Given the description of an element on the screen output the (x, y) to click on. 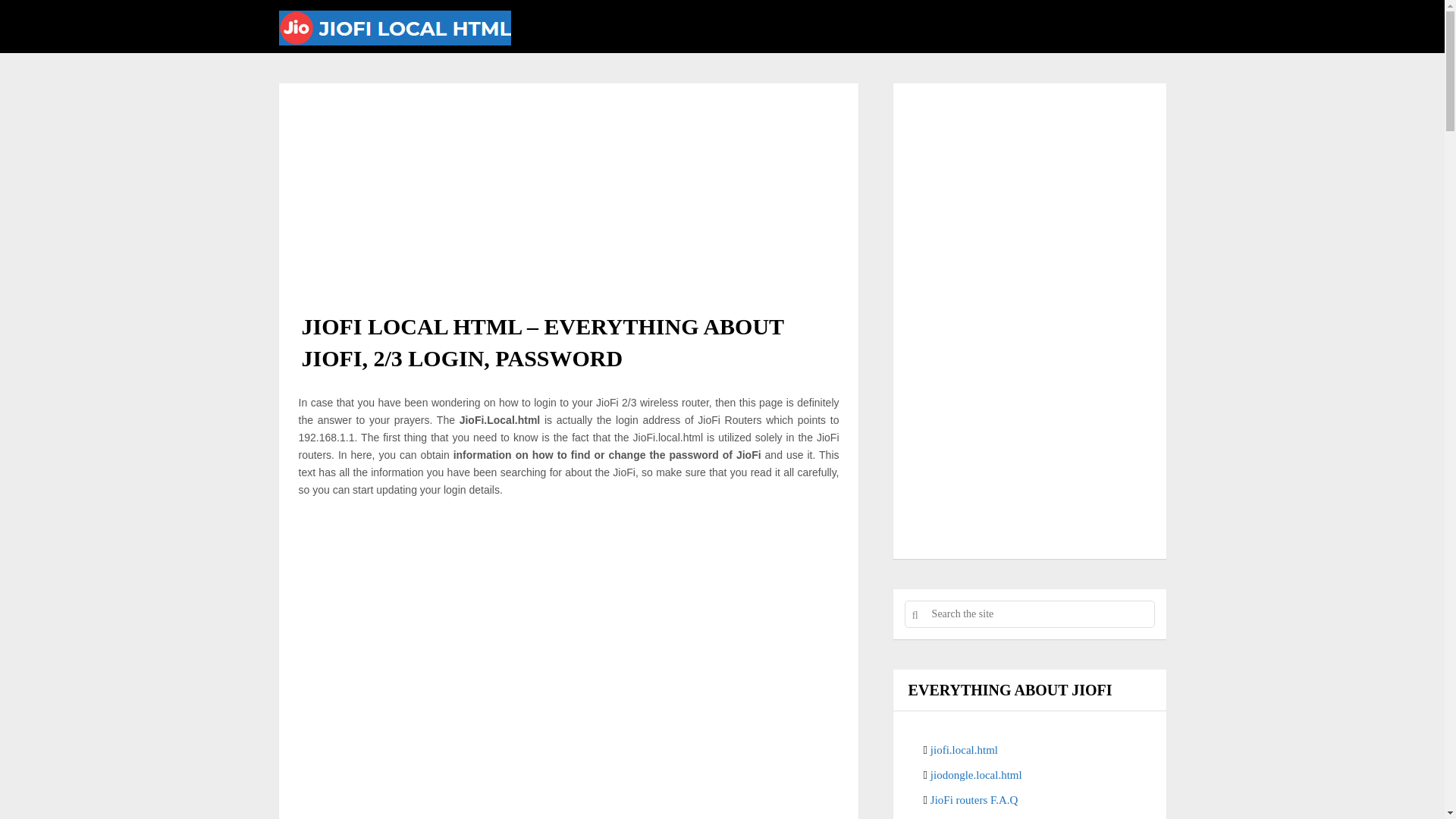
Advertisement (569, 797)
Advertisement (569, 189)
jiofi.local.html (963, 749)
JioFi routers F.A.Q (973, 799)
Advertisement (1029, 428)
jiodongle.local.html (976, 775)
